Given the description of an element on the screen output the (x, y) to click on. 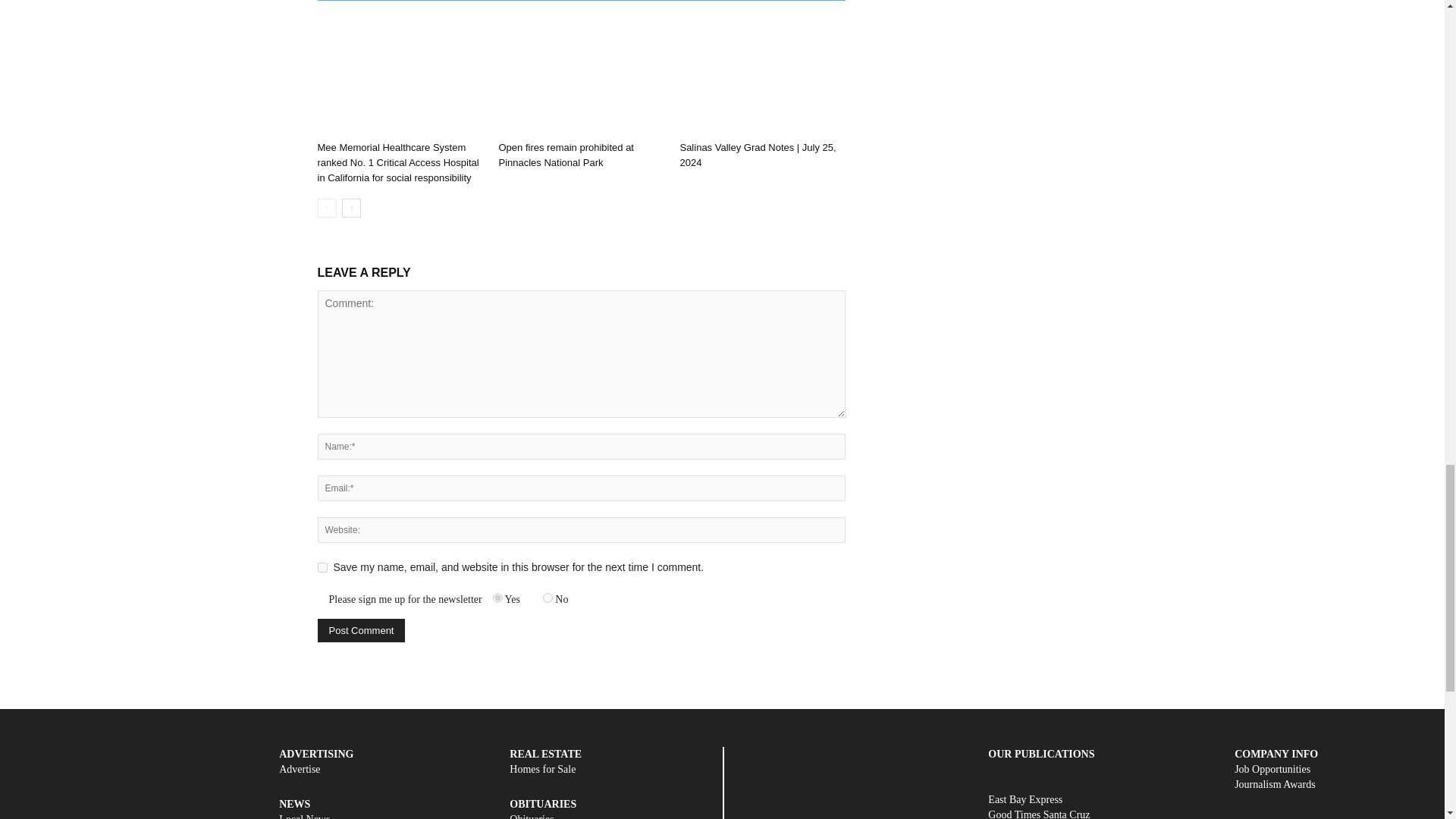
No (548, 597)
yes (321, 567)
Post Comment (360, 630)
Yes (497, 597)
